Given the description of an element on the screen output the (x, y) to click on. 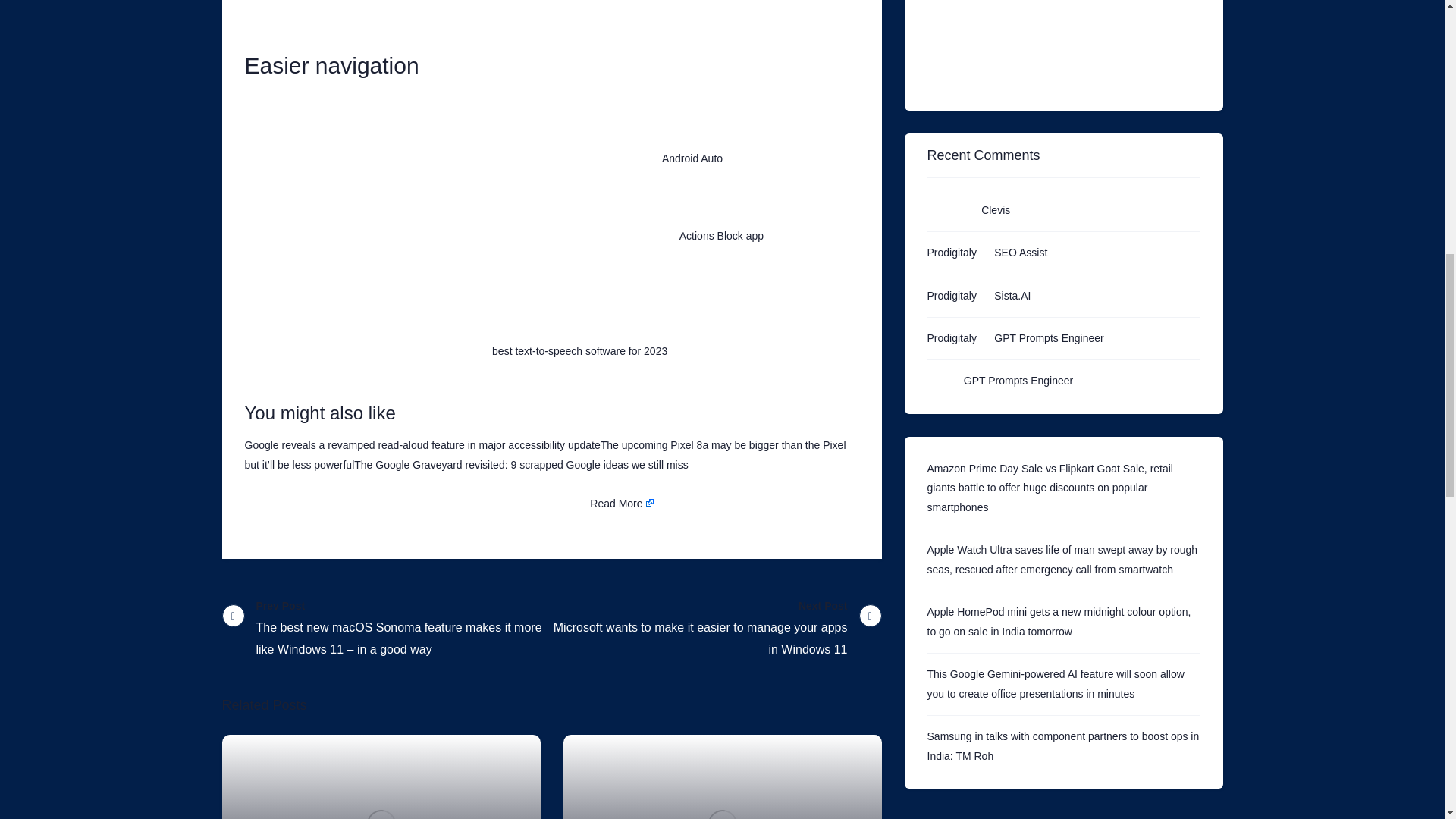
Android Auto (692, 158)
Actions Block app (720, 235)
best text-to-speech software for 2023 (579, 350)
